Given the description of an element on the screen output the (x, y) to click on. 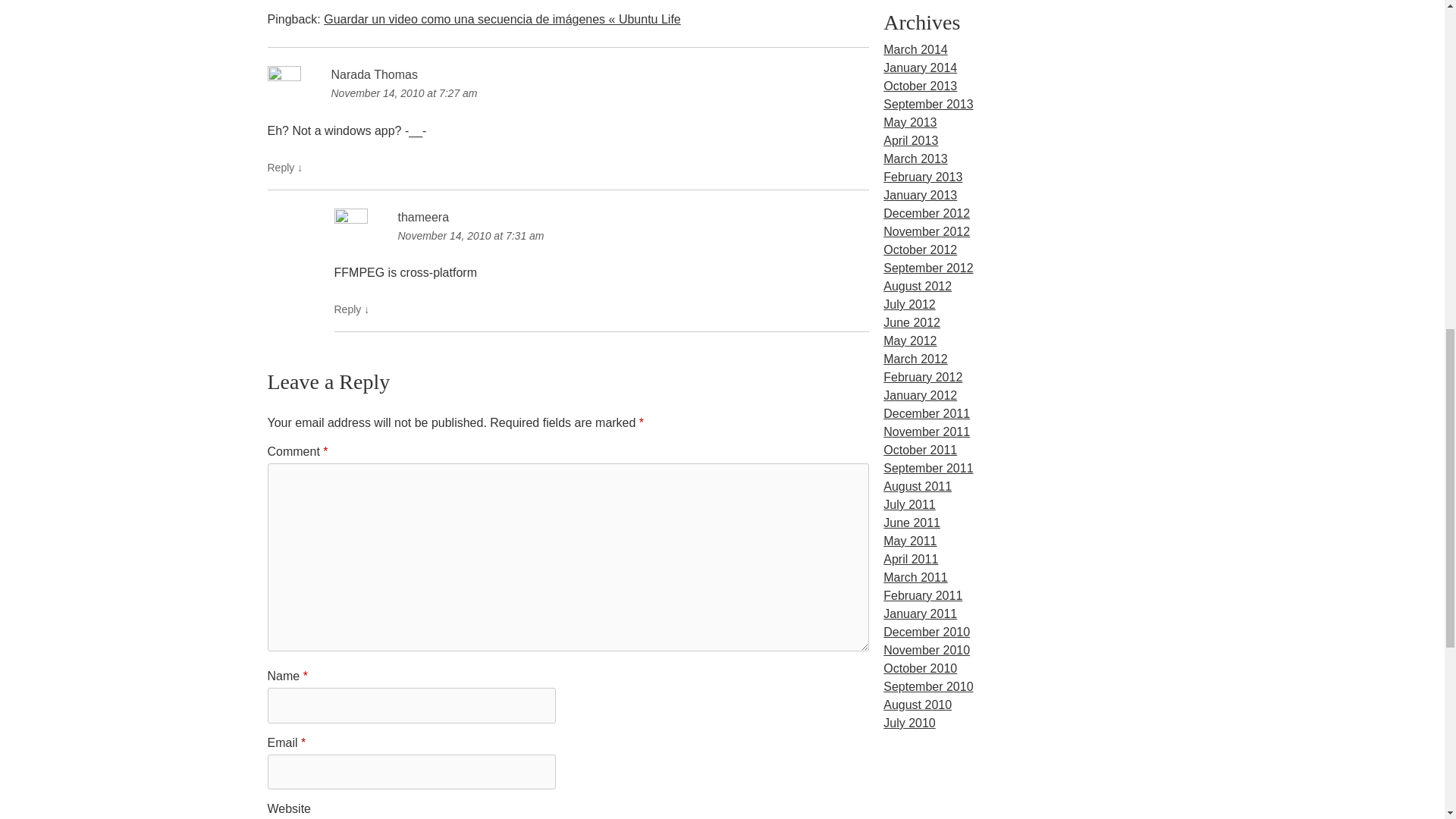
November 14, 2010 at 7:27 am (567, 93)
Narada Thomas (373, 74)
thameera (422, 216)
November 14, 2010 at 7:31 am (601, 235)
